Given the description of an element on the screen output the (x, y) to click on. 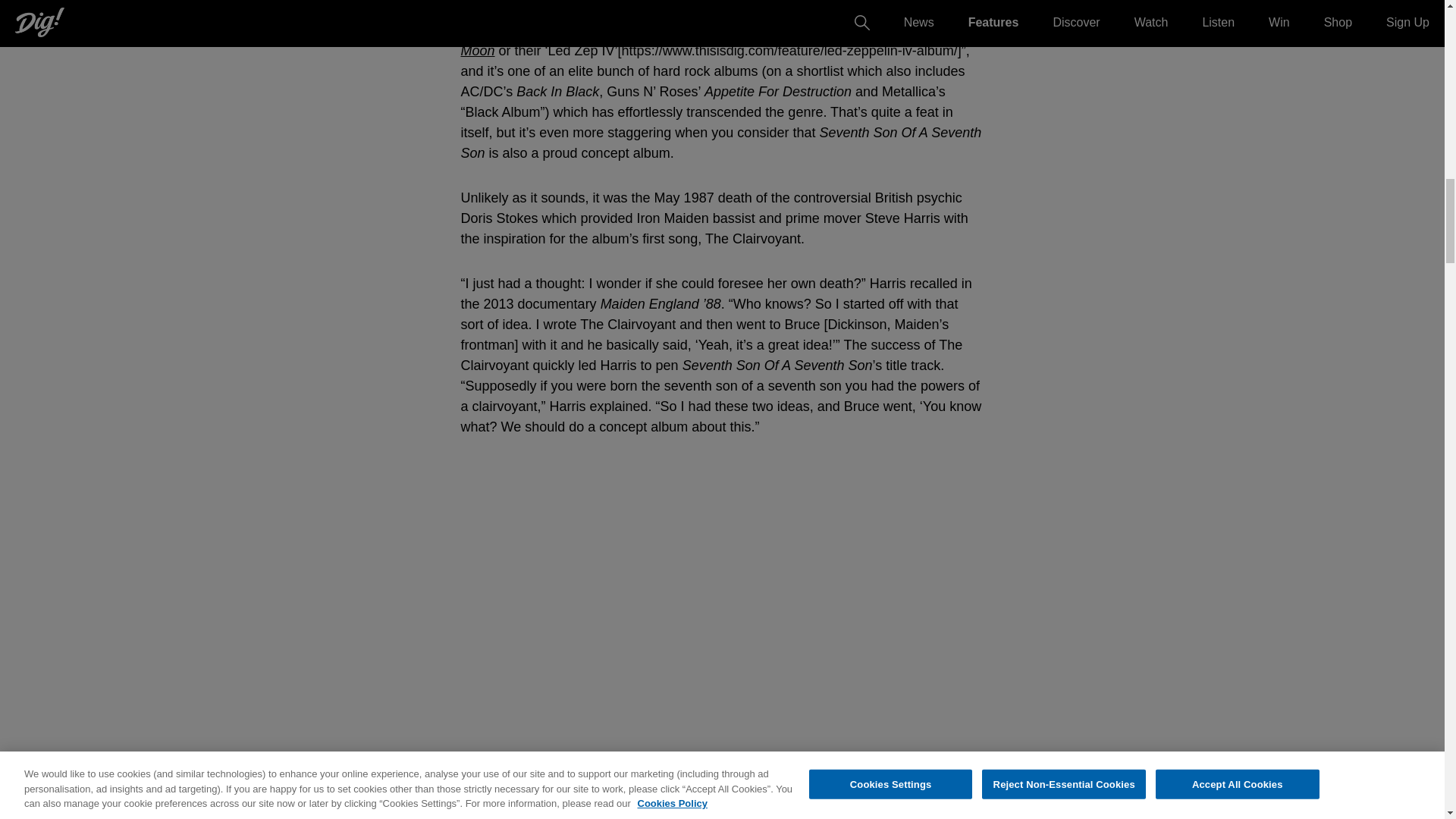
ark Side Of The Moon (717, 40)
